Given the description of an element on the screen output the (x, y) to click on. 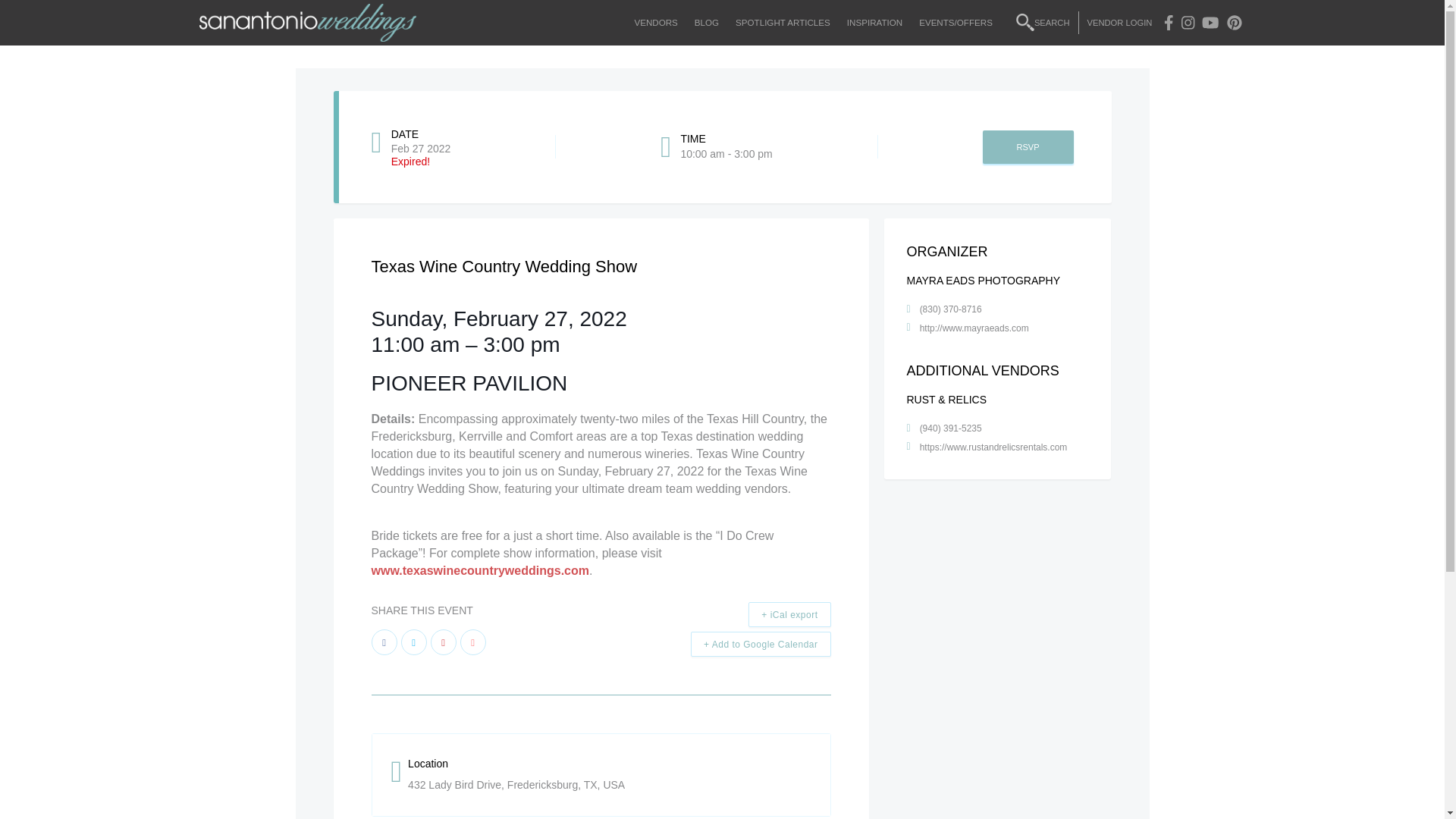
SPOTLIGHT ARTICLES (782, 22)
SEARCH (1043, 22)
Tweet (413, 642)
Email (472, 642)
Share on Facebook (384, 642)
Share on Pinterest (443, 642)
INSPIRATION (874, 22)
VENDORS (655, 22)
